Given the description of an element on the screen output the (x, y) to click on. 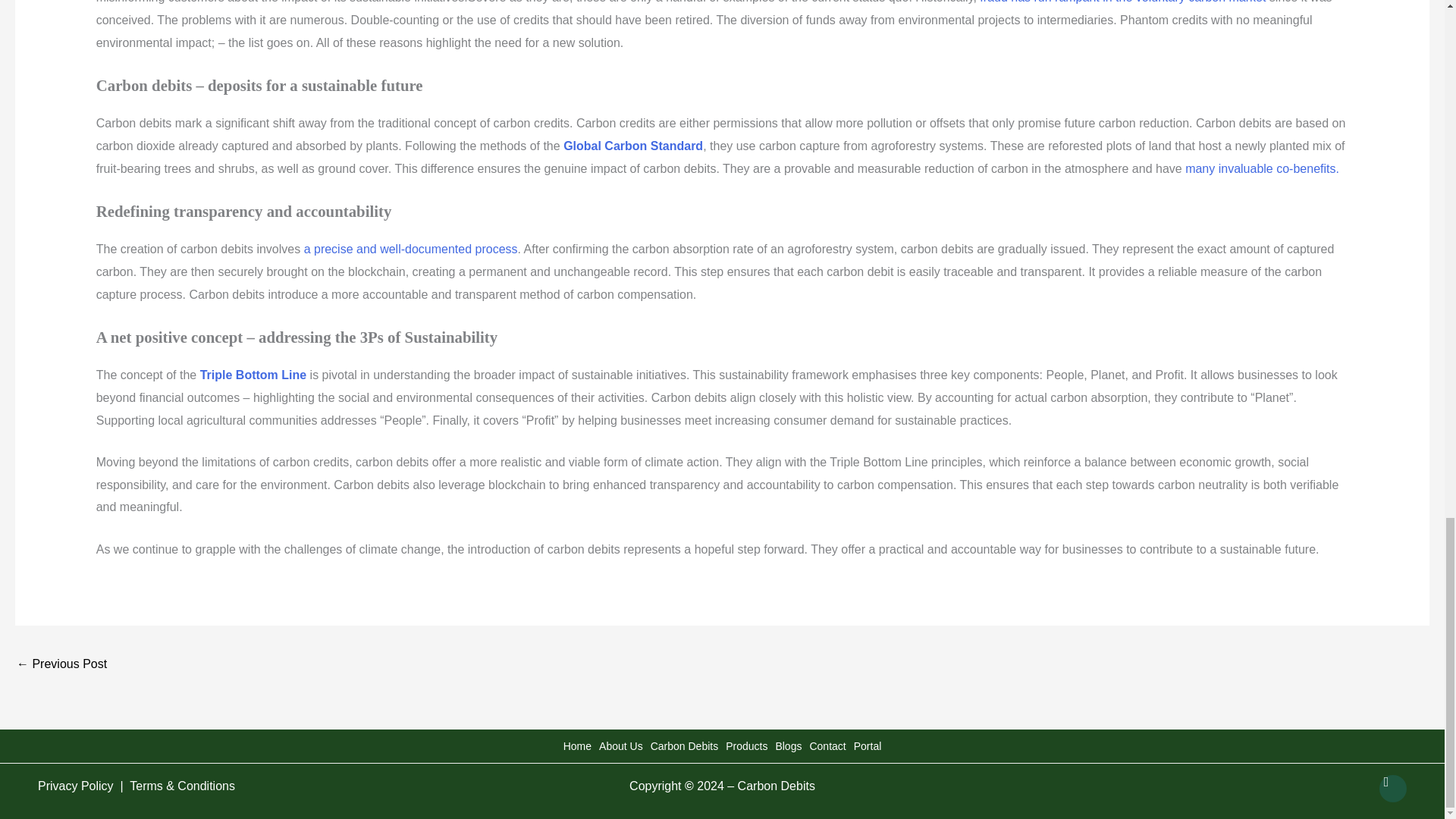
Carbon Debits (684, 746)
About Us (620, 746)
Triple Bottom Line (250, 374)
Blogs (788, 746)
Home (577, 746)
Privacy Policy  (76, 785)
Products (746, 746)
CarbonDebits joins MVO Nederland (61, 665)
Portal (867, 746)
a precise and well-documented process (407, 248)
